Given the description of an element on the screen output the (x, y) to click on. 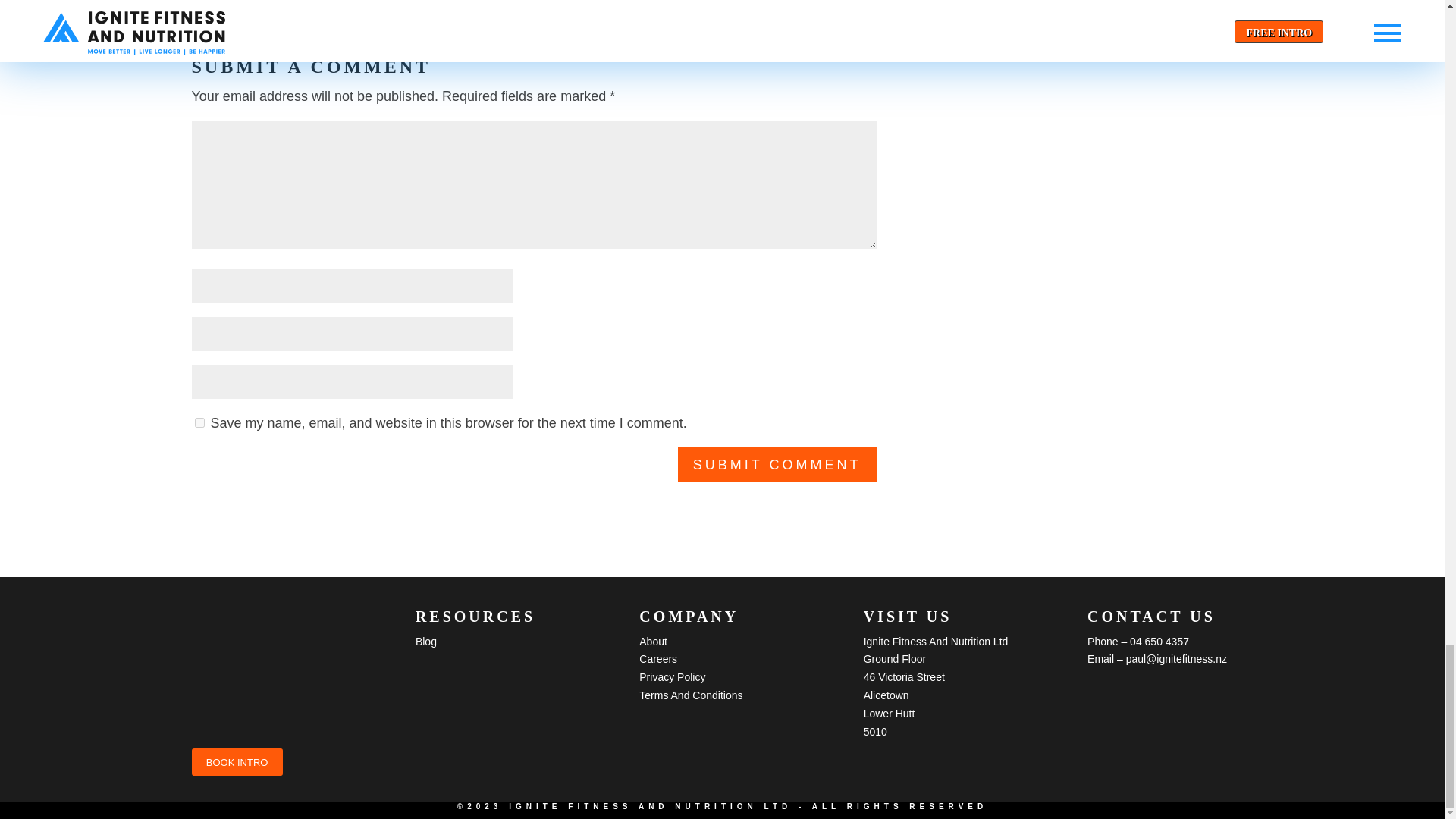
yes (198, 422)
Privacy Policy (671, 676)
BOOK INTRO (236, 761)
Submit Comment (777, 464)
Blog (425, 641)
Submit Comment (777, 464)
